Given the description of an element on the screen output the (x, y) to click on. 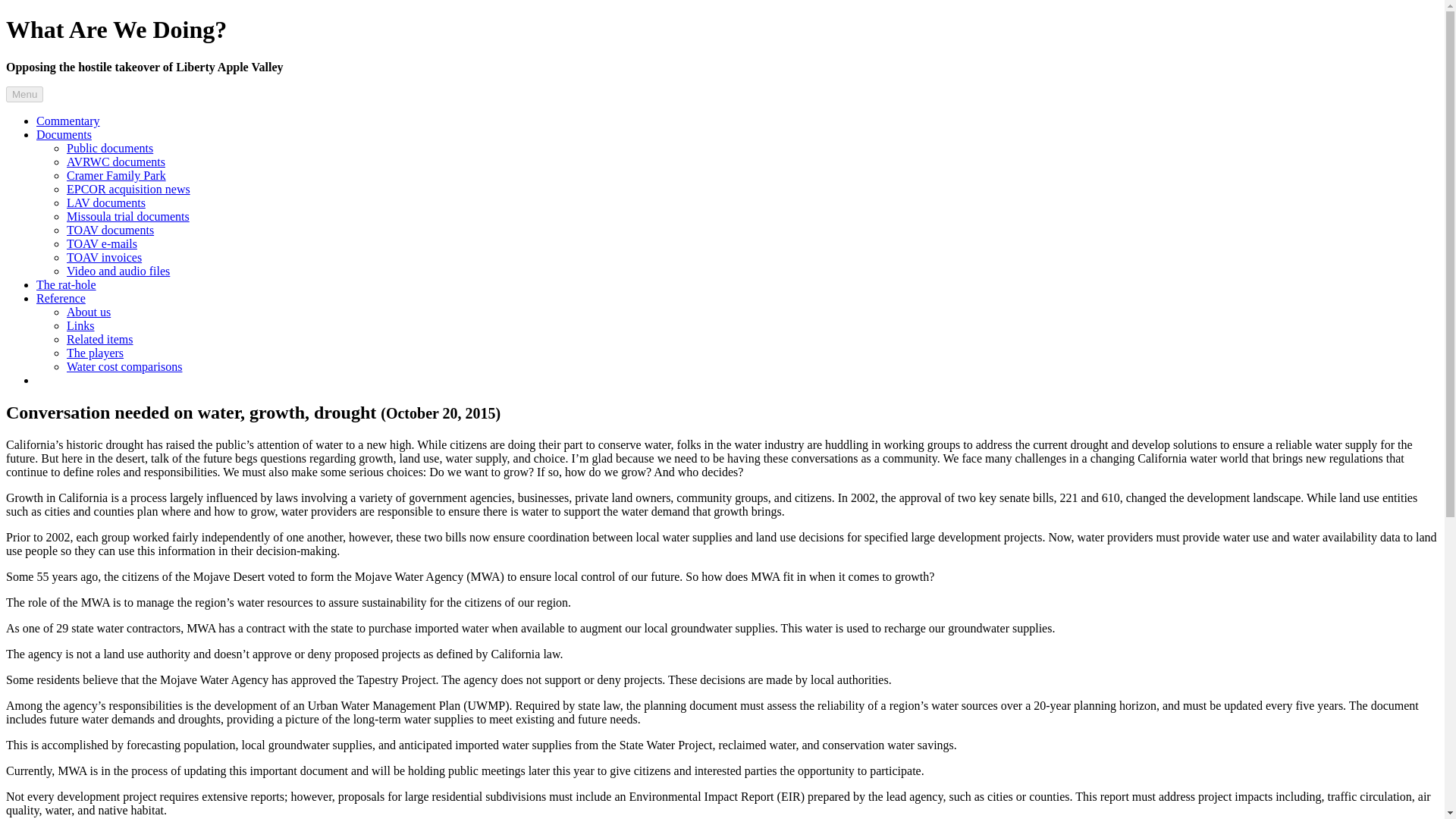
Reference (60, 297)
LAV documents (105, 202)
AVRWC documents (115, 161)
Water cost comparisons (124, 366)
The rat-hole (66, 284)
Missoula trial documents (127, 215)
Cramer Family Park (115, 174)
EPCOR acquisition news (128, 188)
Commentary (68, 120)
Menu (24, 94)
The players (94, 352)
Related items (99, 338)
Public documents (109, 147)
TOAV documents (110, 229)
Links (80, 325)
